Given the description of an element on the screen output the (x, y) to click on. 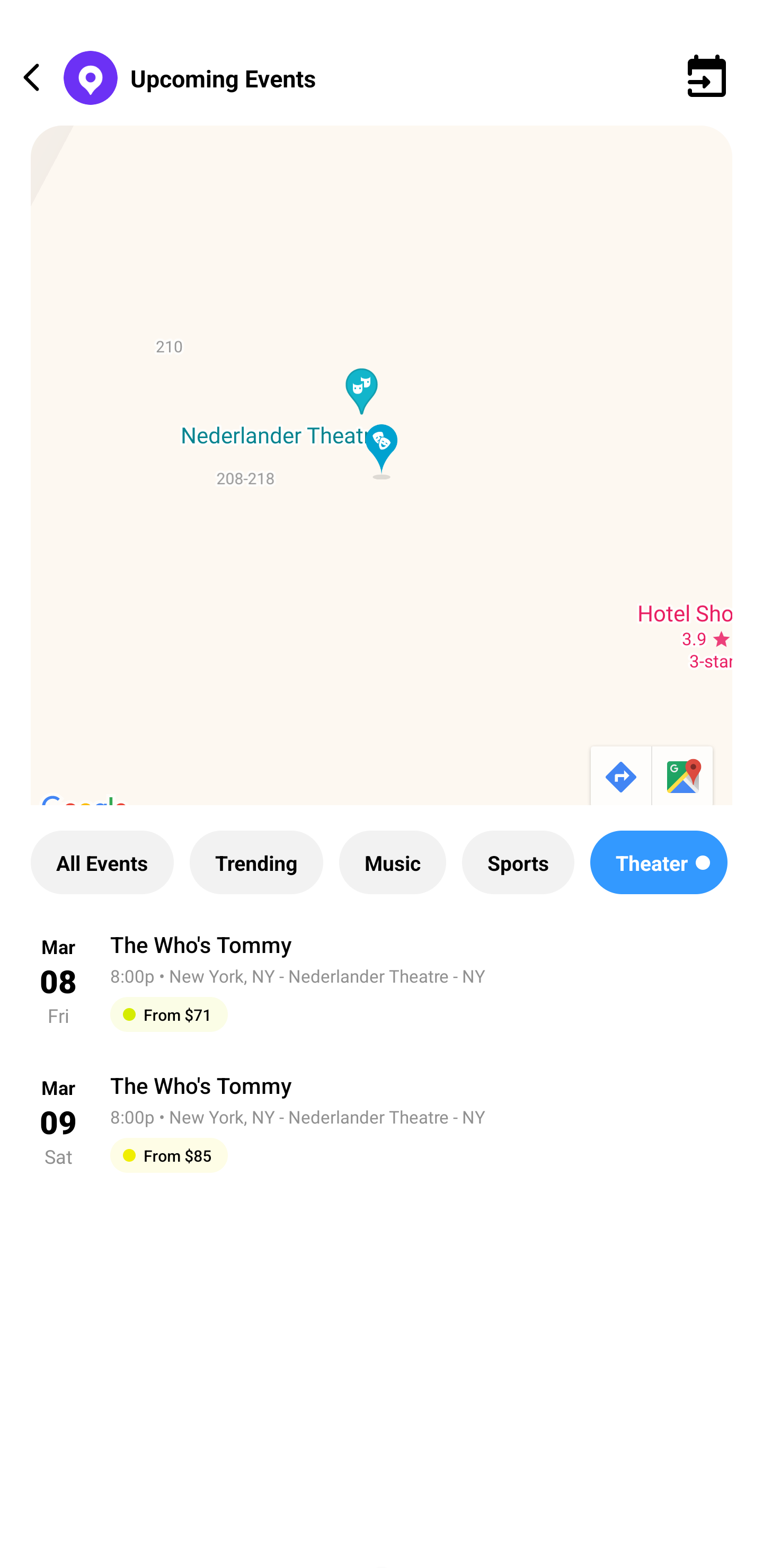
Get directions (618, 777)
Open in Google Maps (683, 777)
All Events (101, 862)
Trending (256, 862)
Music (392, 862)
Sports (518, 862)
Theater (658, 862)
